Given the description of an element on the screen output the (x, y) to click on. 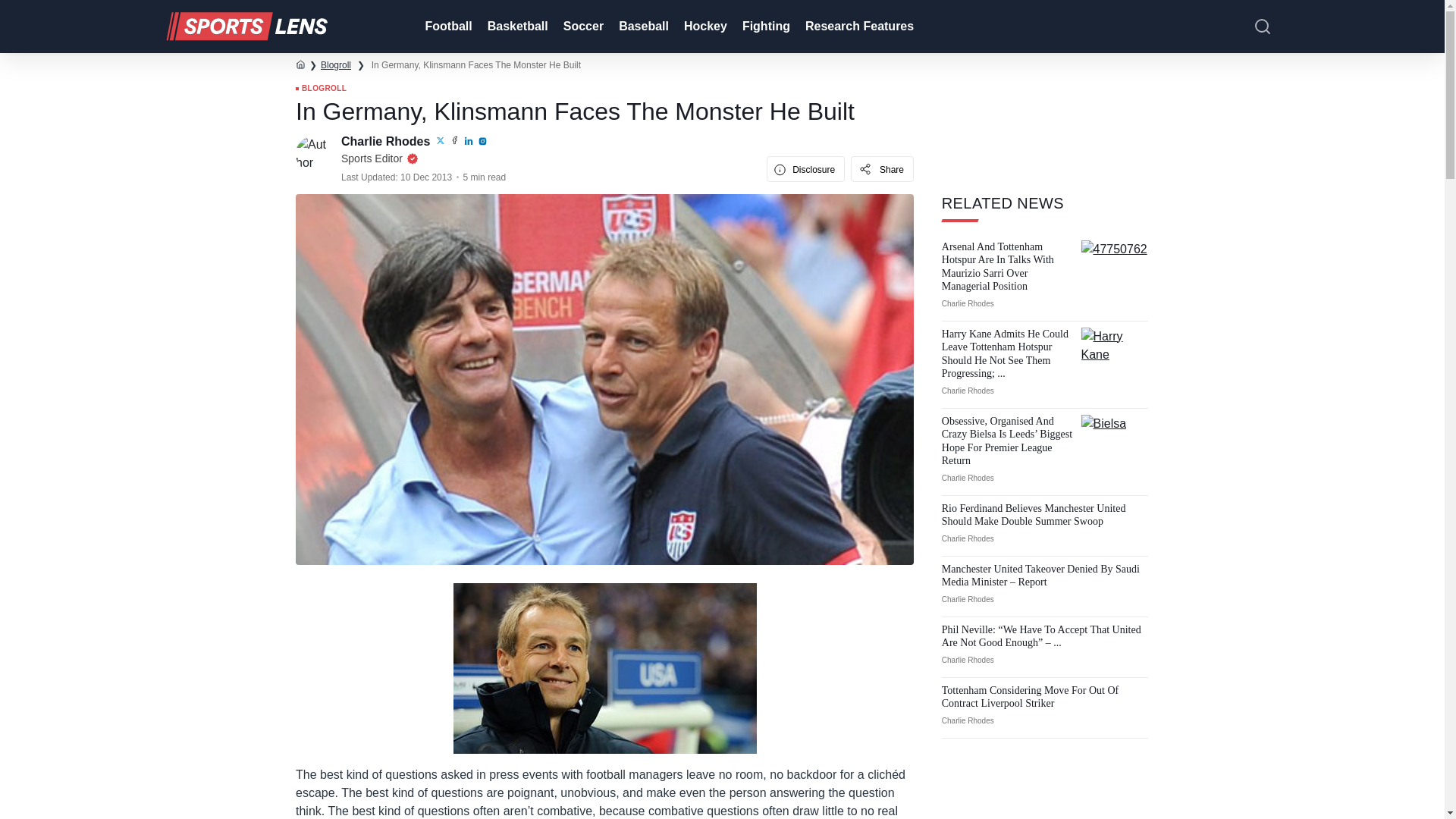
Baseball (642, 26)
Fighting (764, 26)
Charlie Rhodes (386, 141)
Share (882, 168)
Soccer (582, 26)
Basketball (516, 26)
Football (445, 26)
Hockey (704, 26)
Blogroll (335, 64)
Research Features (858, 26)
